Given the description of an element on the screen output the (x, y) to click on. 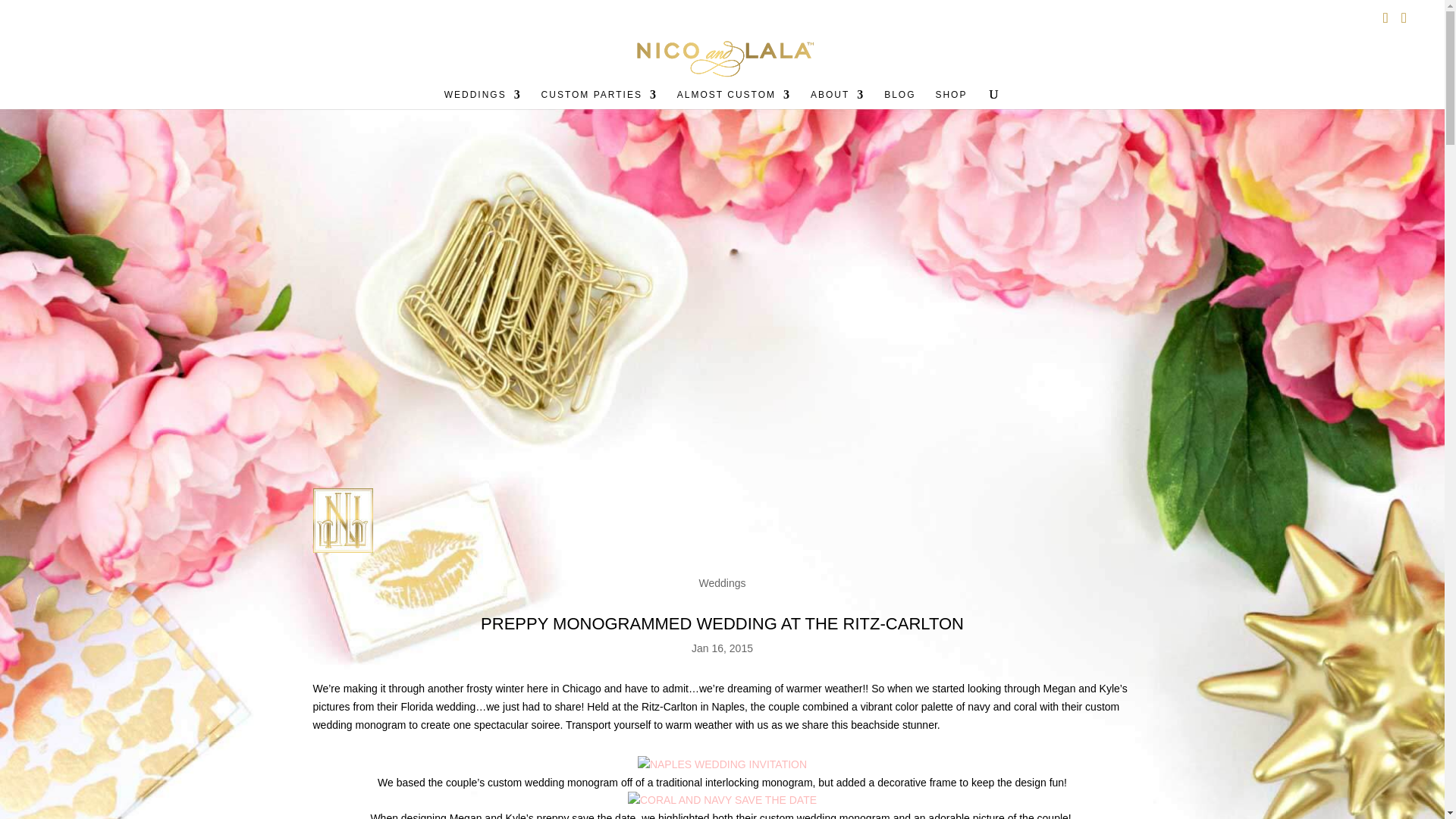
Preppy Save the Date (721, 800)
CUSTOM PARTIES (599, 98)
ALMOST CUSTOM (733, 98)
ABOUT (837, 98)
SHOP (950, 98)
WEDDINGS (482, 98)
Weddings (721, 582)
BLOG (899, 98)
Preppy Monogrammed Wedding Invitation (721, 764)
